Given the description of an element on the screen output the (x, y) to click on. 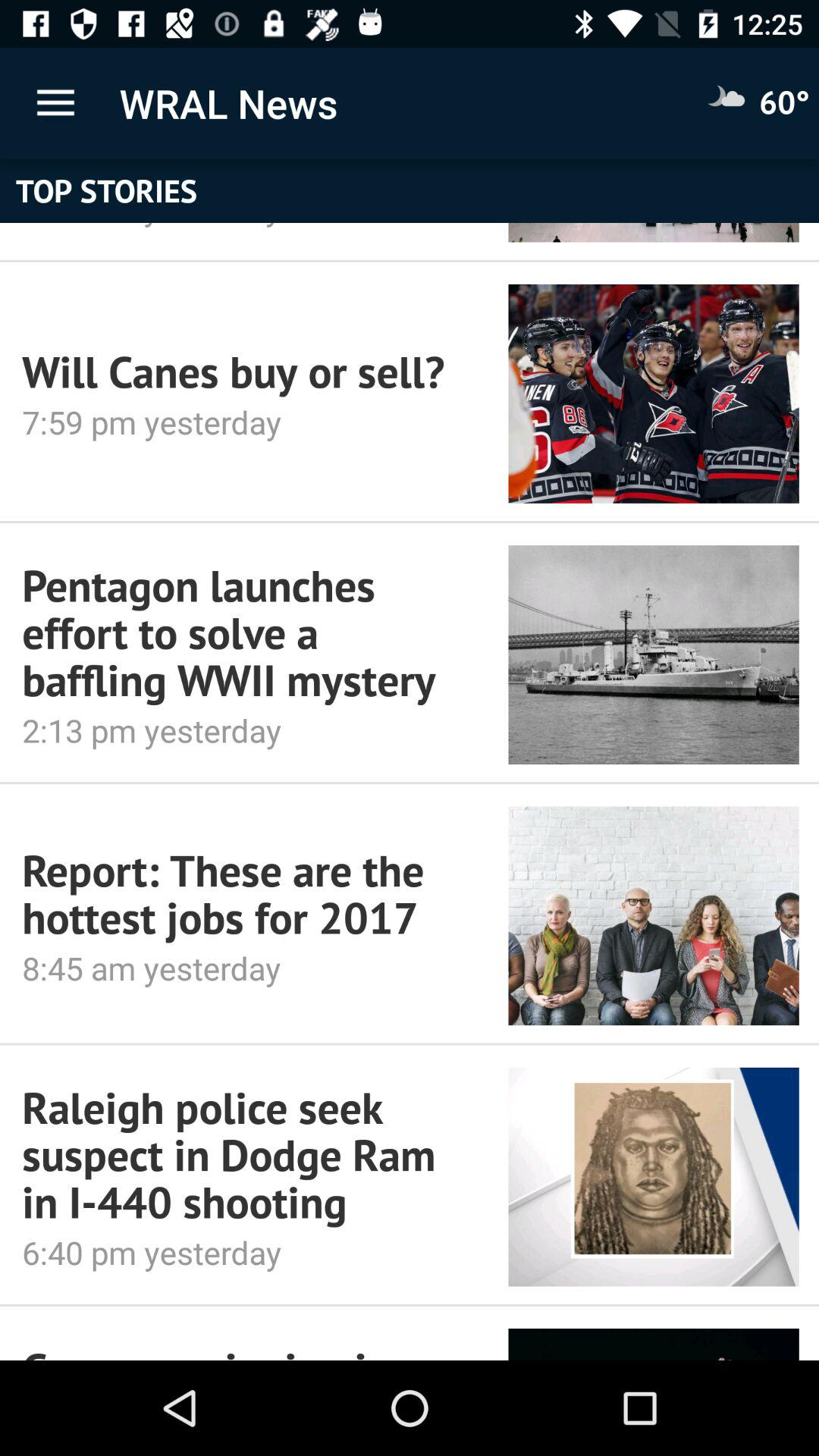
flip until raleigh police seek (244, 1154)
